Given the description of an element on the screen output the (x, y) to click on. 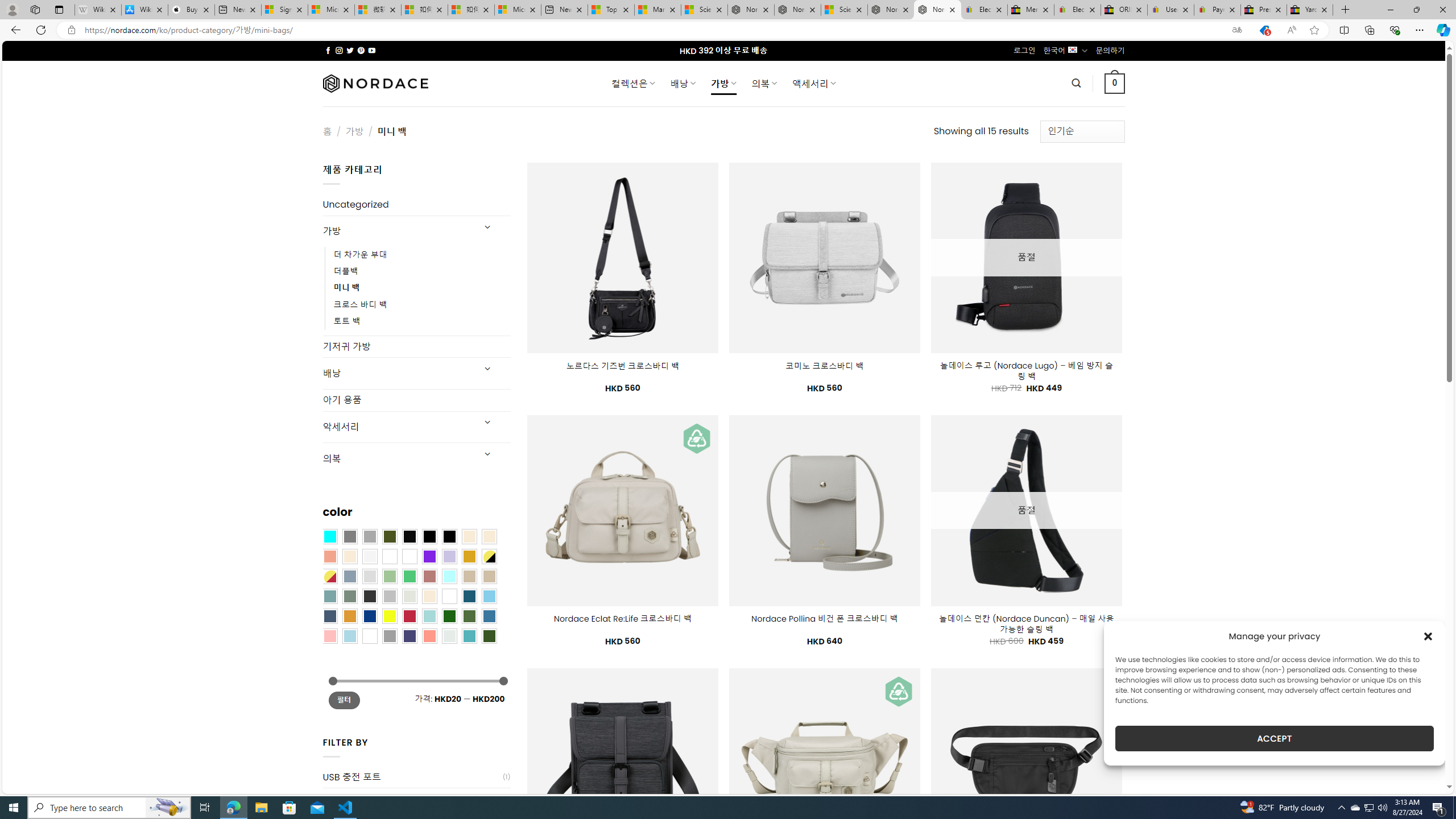
Class: cmplz-close (1428, 636)
Kelp (408, 555)
Top Stories - MSN (610, 9)
Follow on Facebook (327, 50)
